Given the description of an element on the screen output the (x, y) to click on. 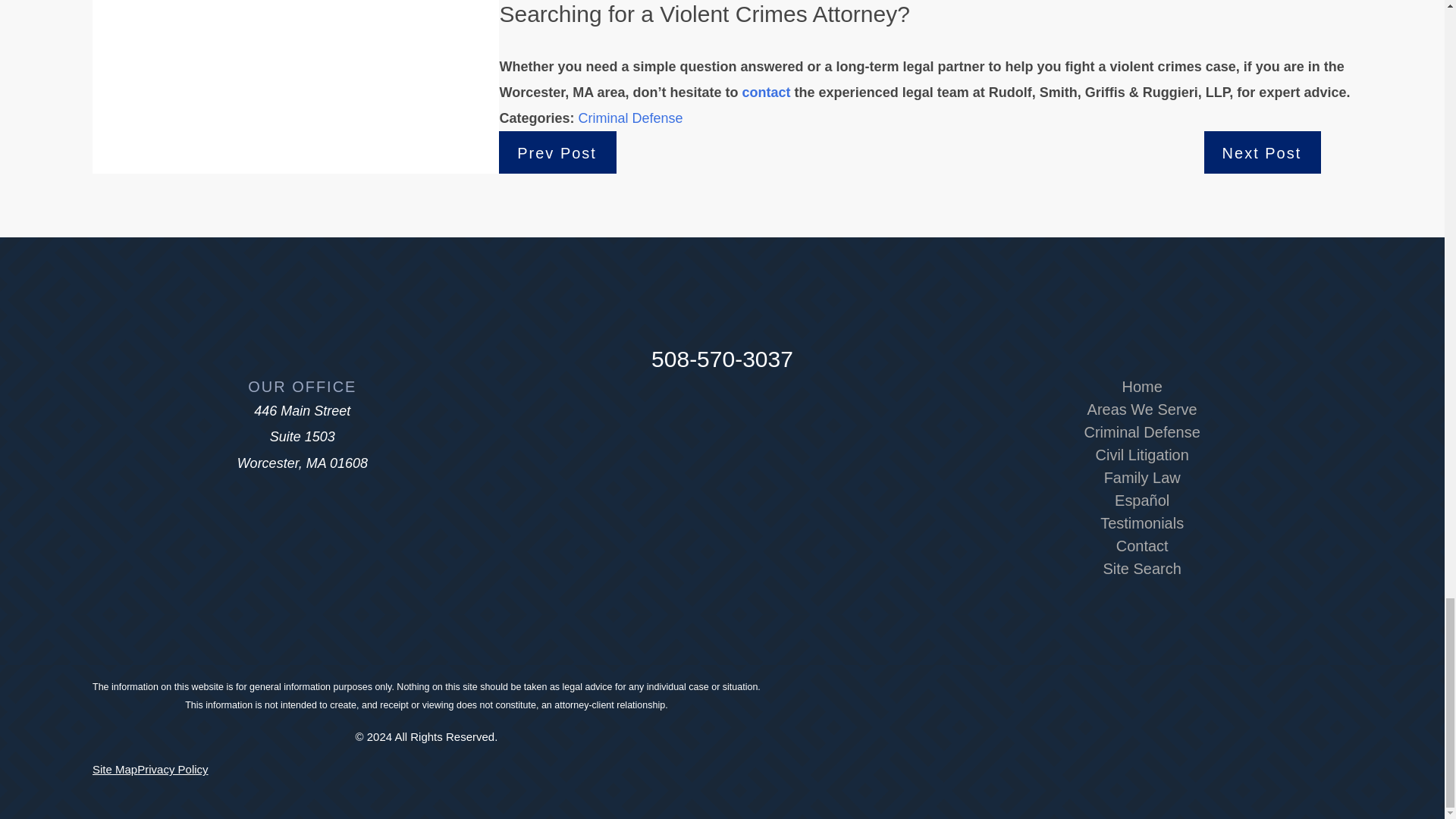
Twitter (760, 395)
Facebook (722, 395)
Google Business Profile (684, 395)
